Given the description of an element on the screen output the (x, y) to click on. 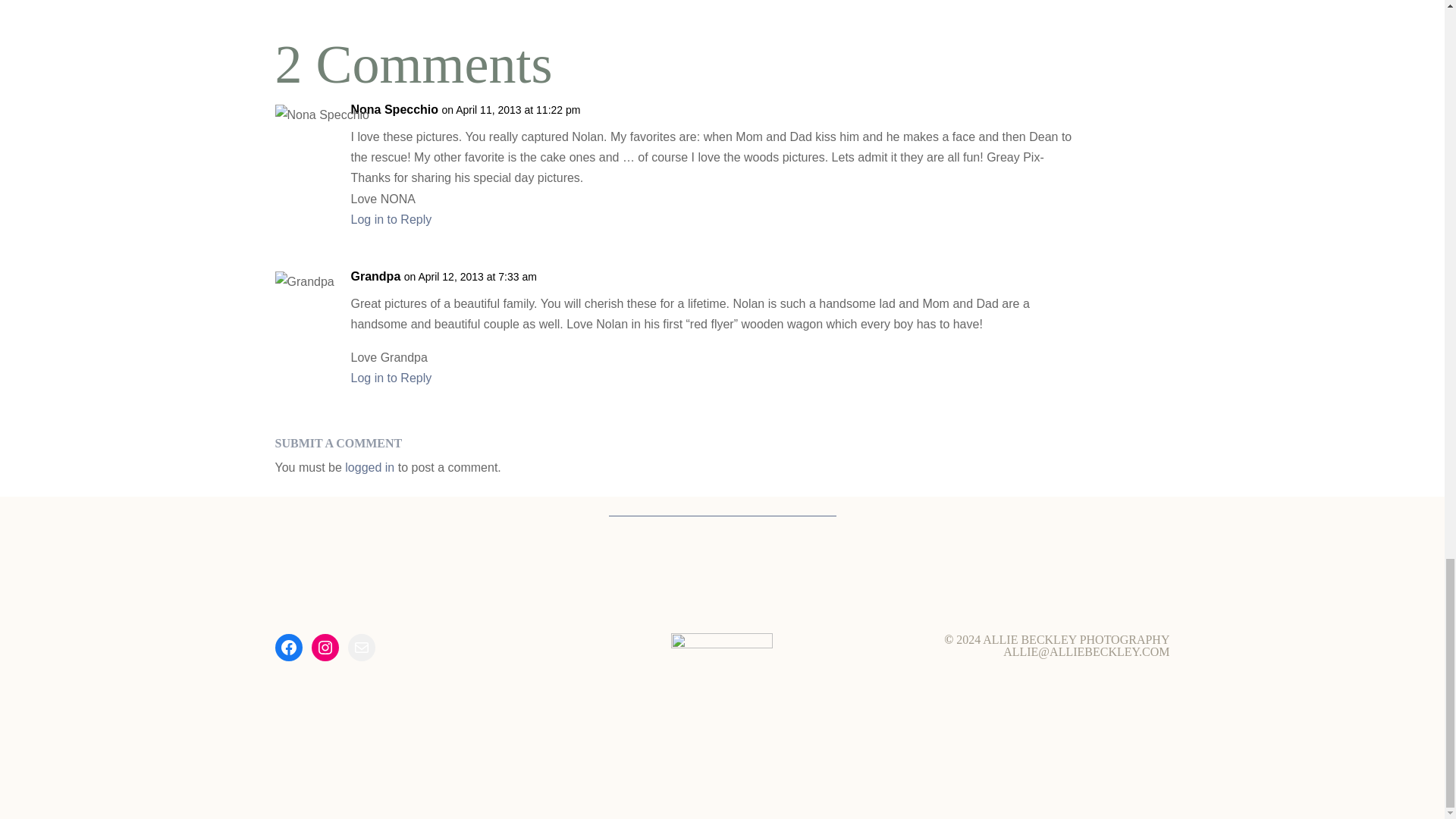
Log in to Reply (390, 219)
Log in to Reply (390, 377)
